Given the description of an element on the screen output the (x, y) to click on. 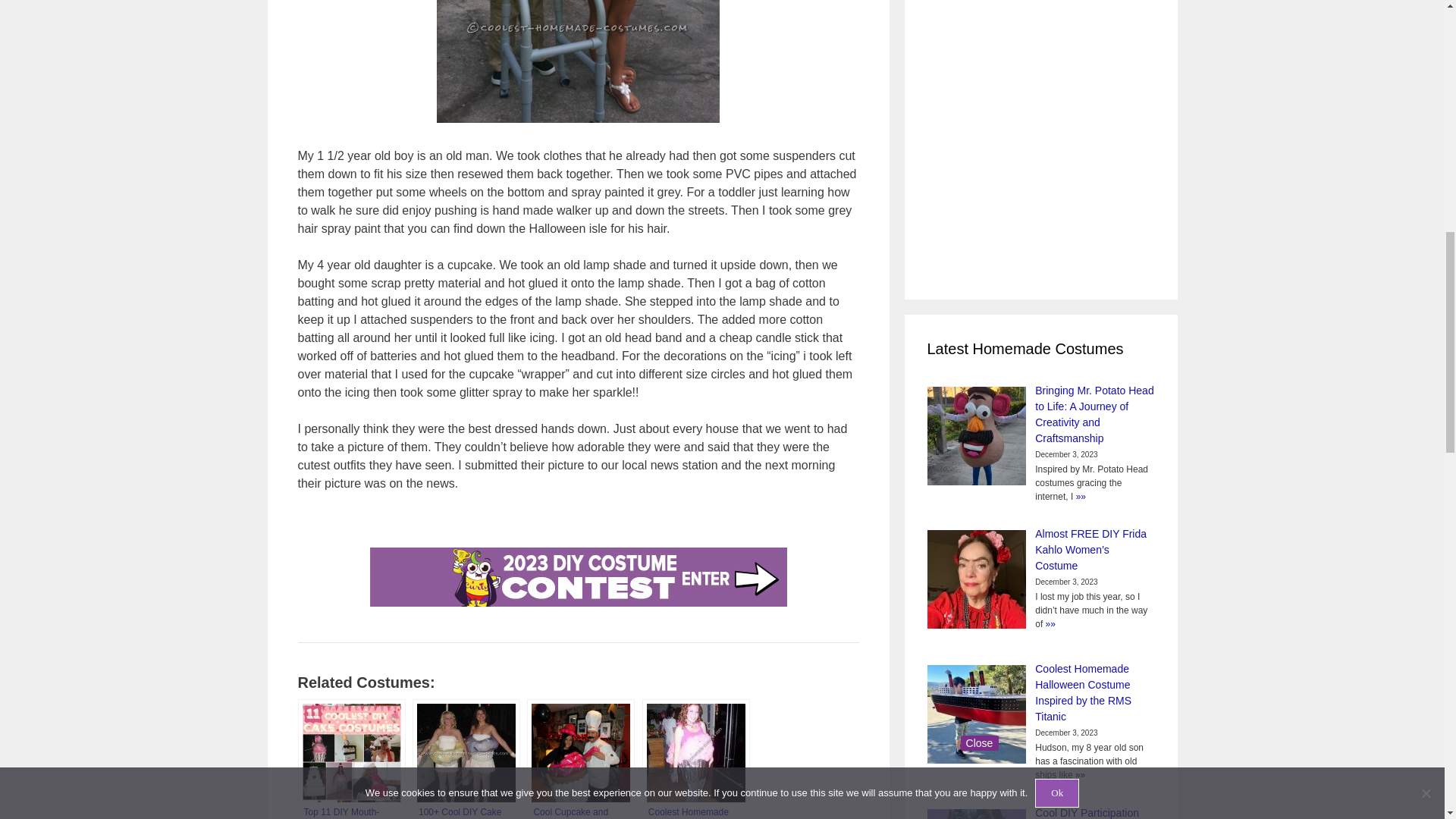
Coolest Homemade Cupcake Halloween Costume (695, 759)
3rd party ad content (987, 138)
Cool Cupcake and Pastry Chef Couple Costume (580, 759)
